Given the description of an element on the screen output the (x, y) to click on. 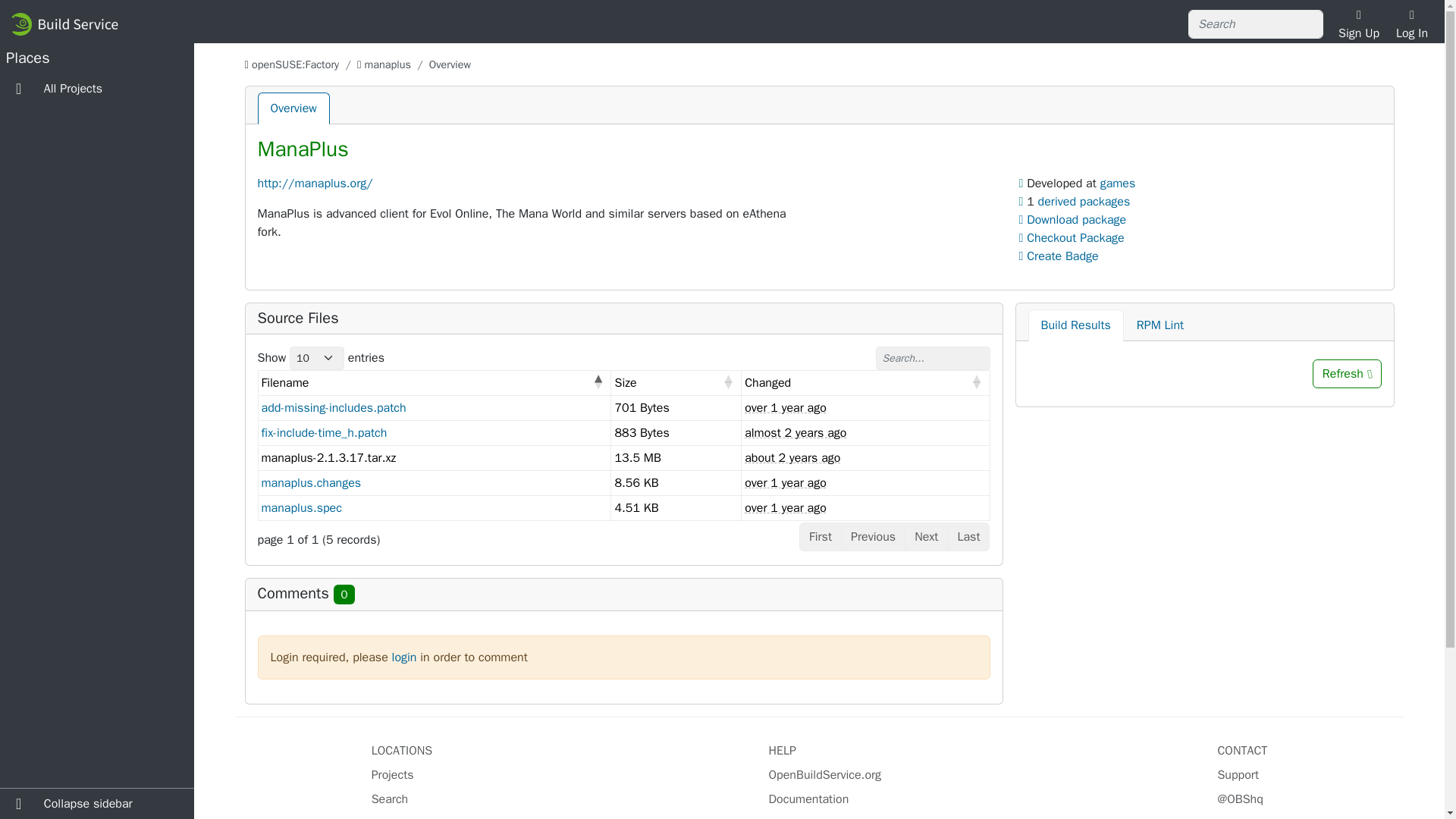
Documentation (808, 798)
2022-09-06 10:04 UTC (794, 432)
Overview (293, 108)
Build Results (1075, 325)
login (403, 657)
2022-07-07 05:14 UTC (792, 458)
manaplus (387, 64)
Search (390, 798)
Projects (392, 774)
Download package (1075, 219)
Create Badge (1059, 255)
RPM Lint (1160, 325)
Next (925, 536)
2023-04-10 21:57 UTC (785, 482)
games (1117, 183)
